Given the description of an element on the screen output the (x, y) to click on. 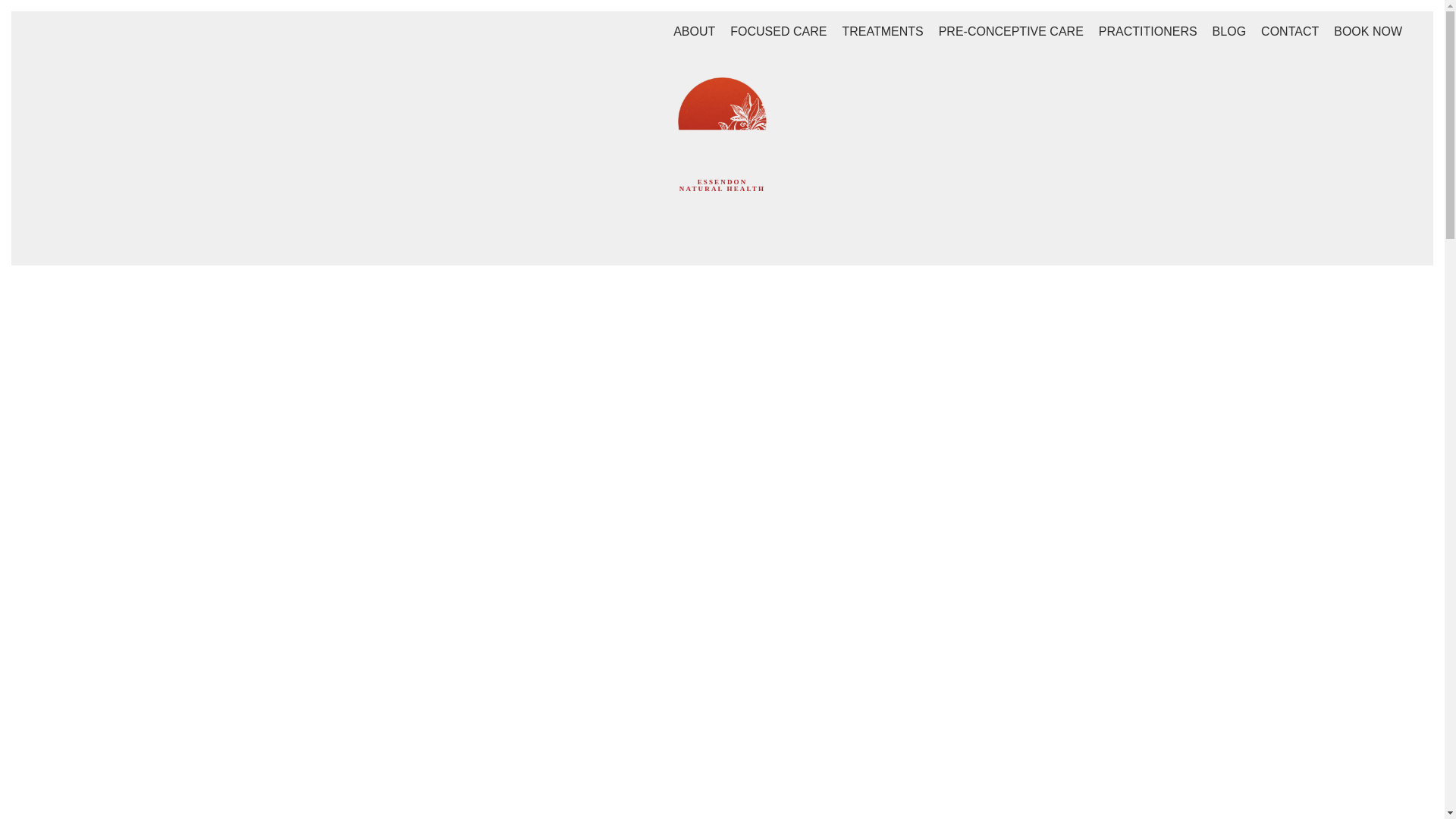
PRE-CONCEPTIVE CARE (1010, 31)
FOCUSED CARE (777, 31)
BOOK NOW (1368, 31)
ESSENDON NATURAL HEALTH (722, 155)
CONTACT (1289, 31)
ABOUT (694, 31)
TREATMENTS (882, 31)
BLOG (1228, 31)
PRACTITIONERS (1147, 31)
